Given the description of an element on the screen output the (x, y) to click on. 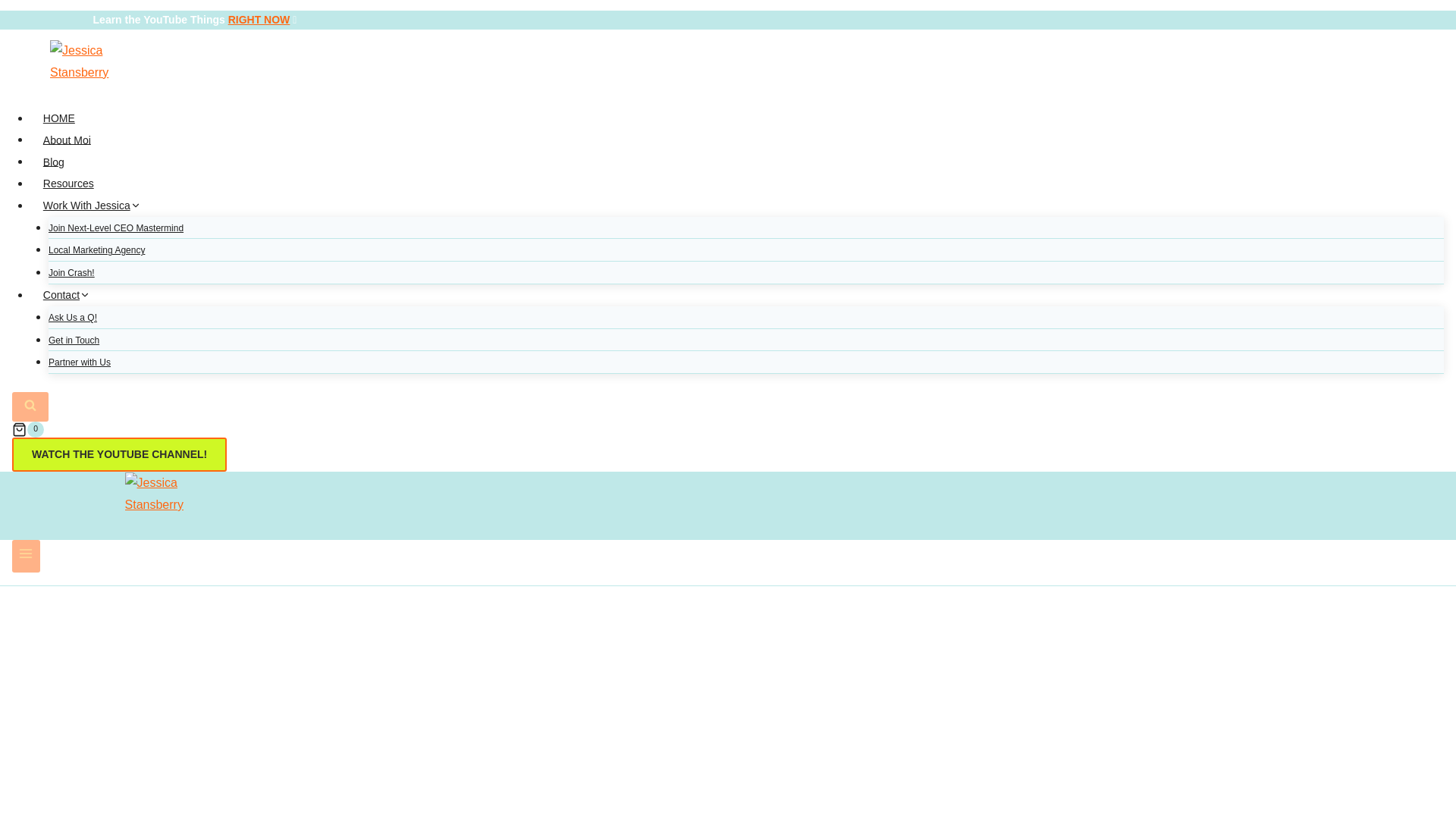
WATCH THE YOUTUBE CHANNEL! (119, 454)
0 (727, 429)
Partner with Us (79, 362)
Get in Touch (73, 339)
Ask Us a Q! (72, 317)
Join Crash! (71, 272)
Join Next-Level CEO Mastermind (115, 227)
Local Marketing Agency (96, 249)
Contact (66, 294)
About Moi (66, 139)
